Given the description of an element on the screen output the (x, y) to click on. 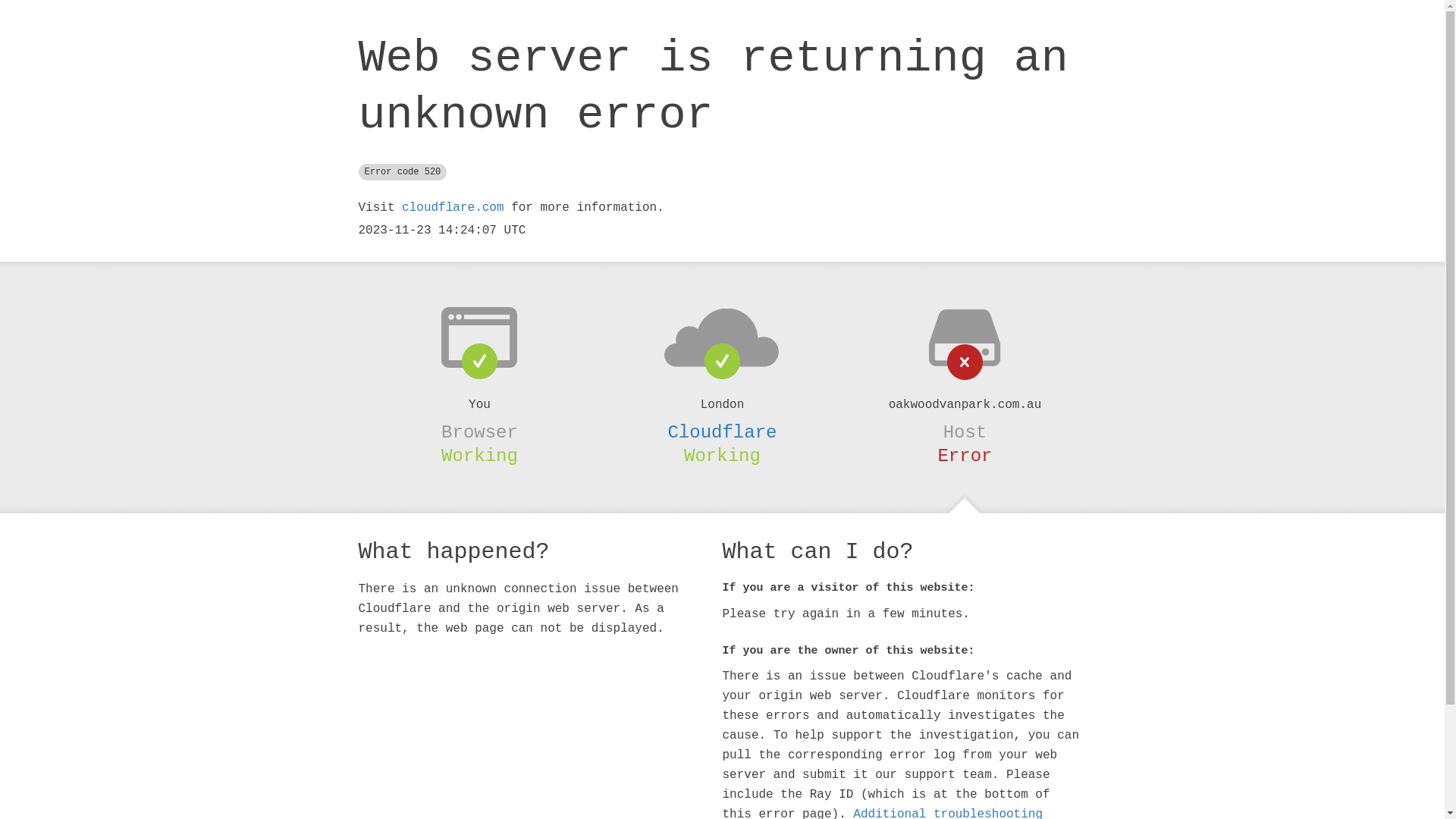
Cloudflare Element type: text (721, 432)
cloudflare.com Element type: text (452, 207)
